Given the description of an element on the screen output the (x, y) to click on. 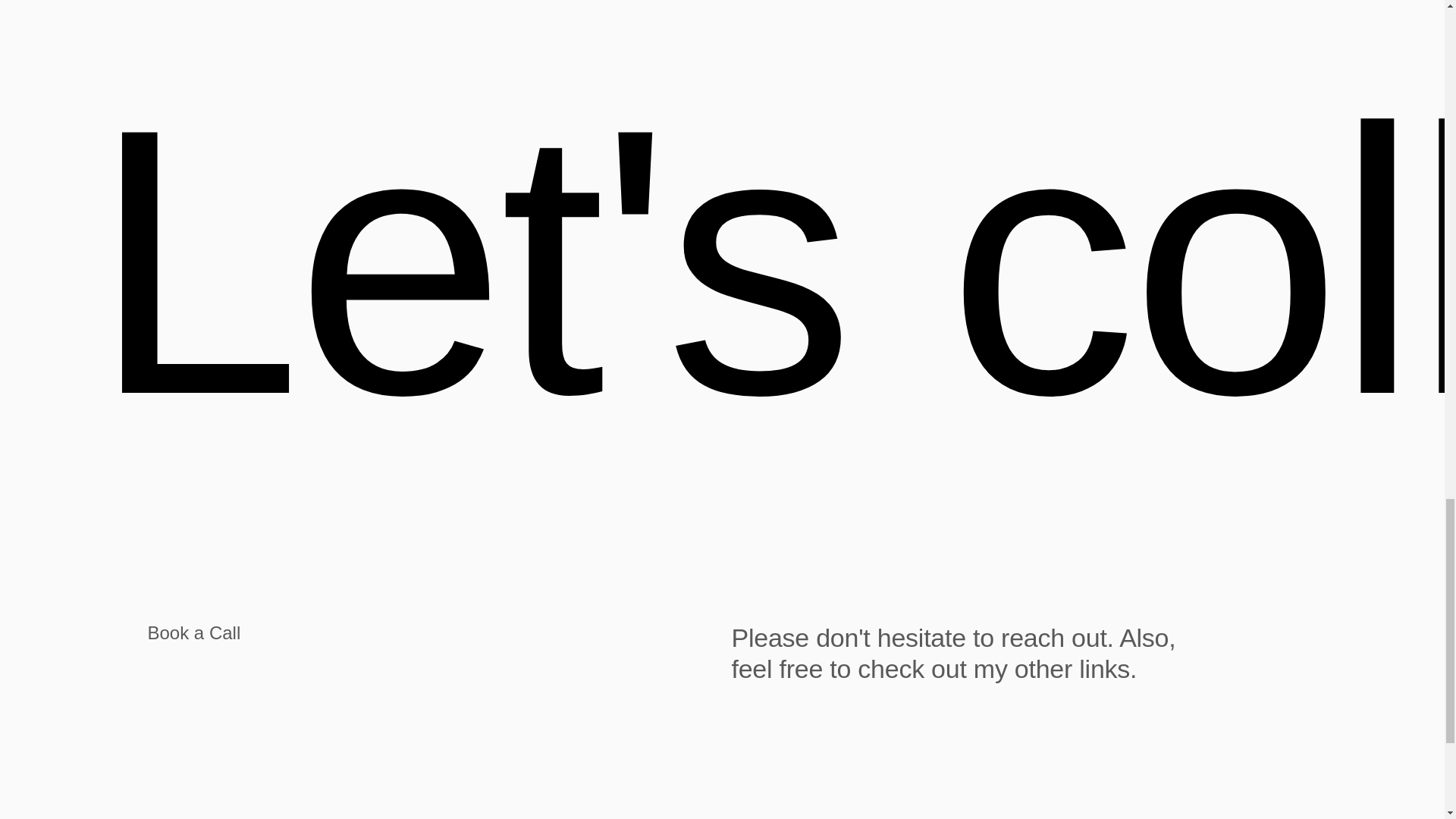
Dribbble (761, 755)
Behance (862, 755)
Linkedin (962, 755)
Book a Call (430, 633)
